Given the description of an element on the screen output the (x, y) to click on. 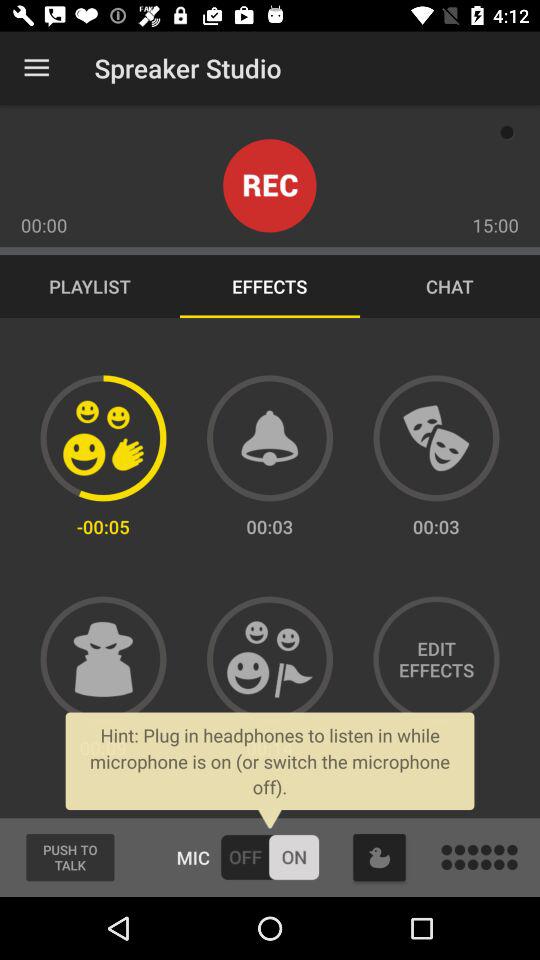
laughter and cheering (270, 659)
